Given the description of an element on the screen output the (x, y) to click on. 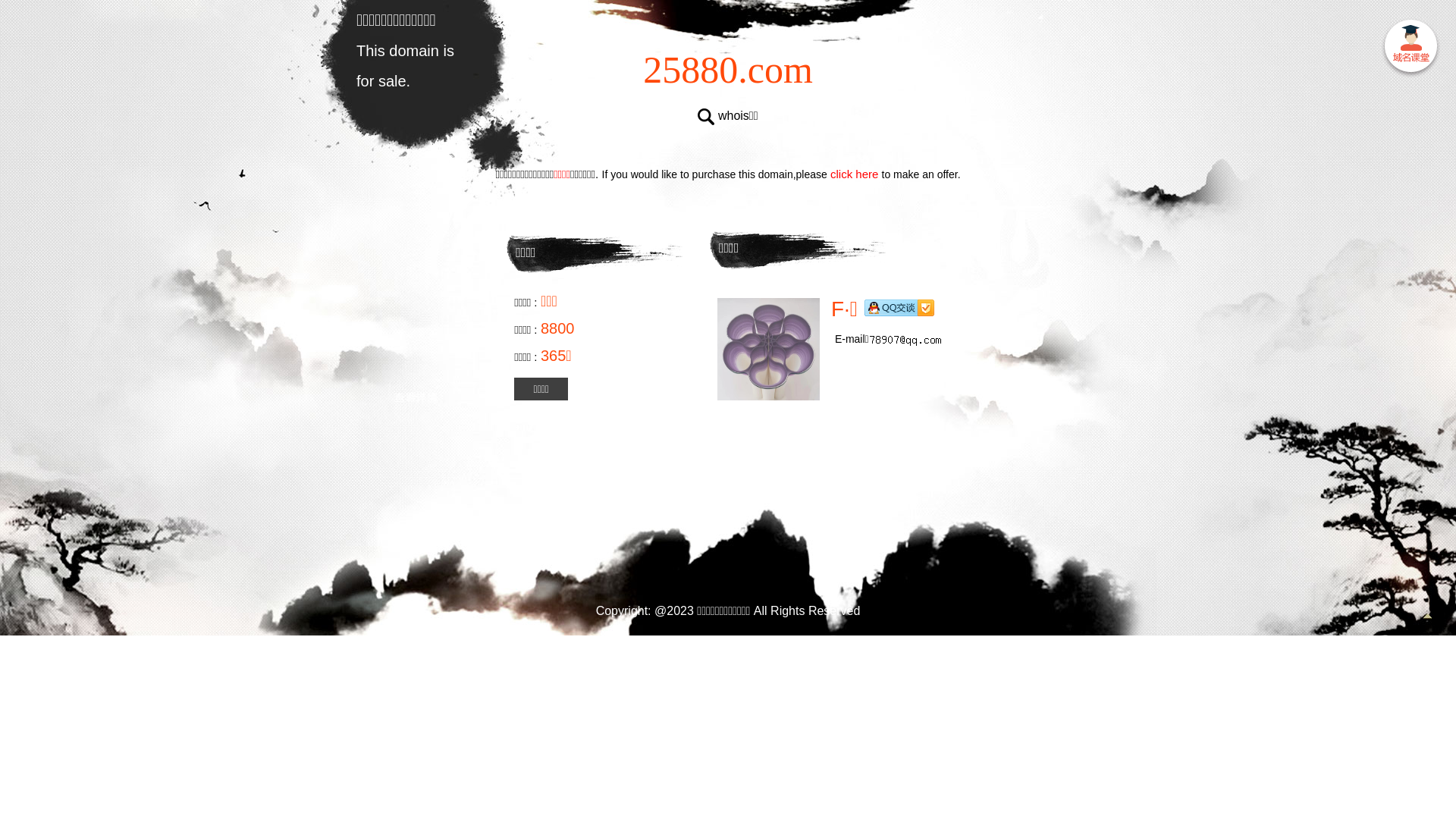
  Element type: text (1410, 48)
click here Element type: text (854, 173)
